Given the description of an element on the screen output the (x, y) to click on. 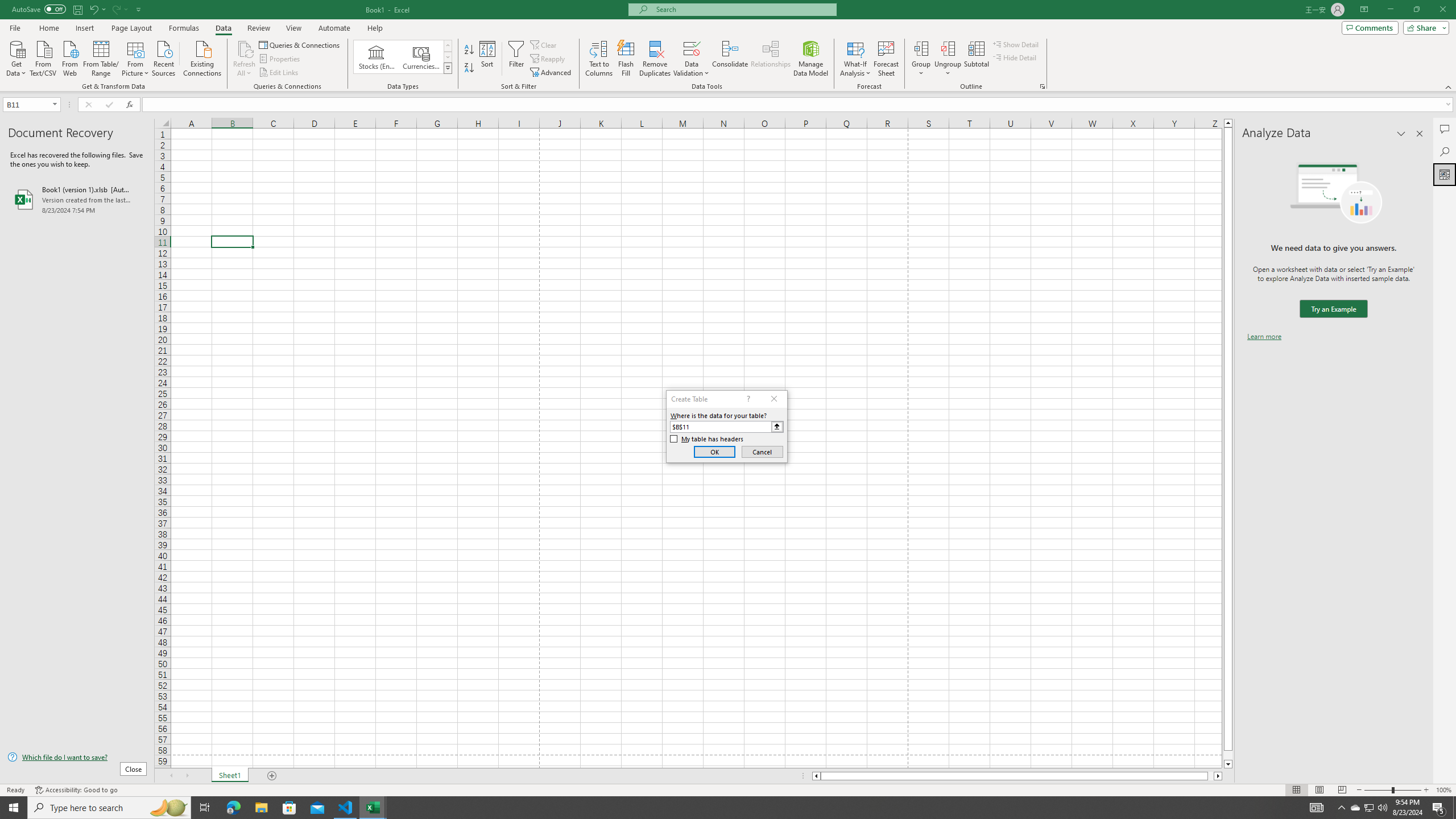
From Picture (135, 57)
Currencies (English) (420, 56)
Reapply (548, 58)
Manage Data Model (810, 58)
Subtotal (976, 58)
Class: MsoCommandBar (728, 45)
Get Data (16, 57)
We need data to give you answers. Try an Example (1333, 308)
